Given the description of an element on the screen output the (x, y) to click on. 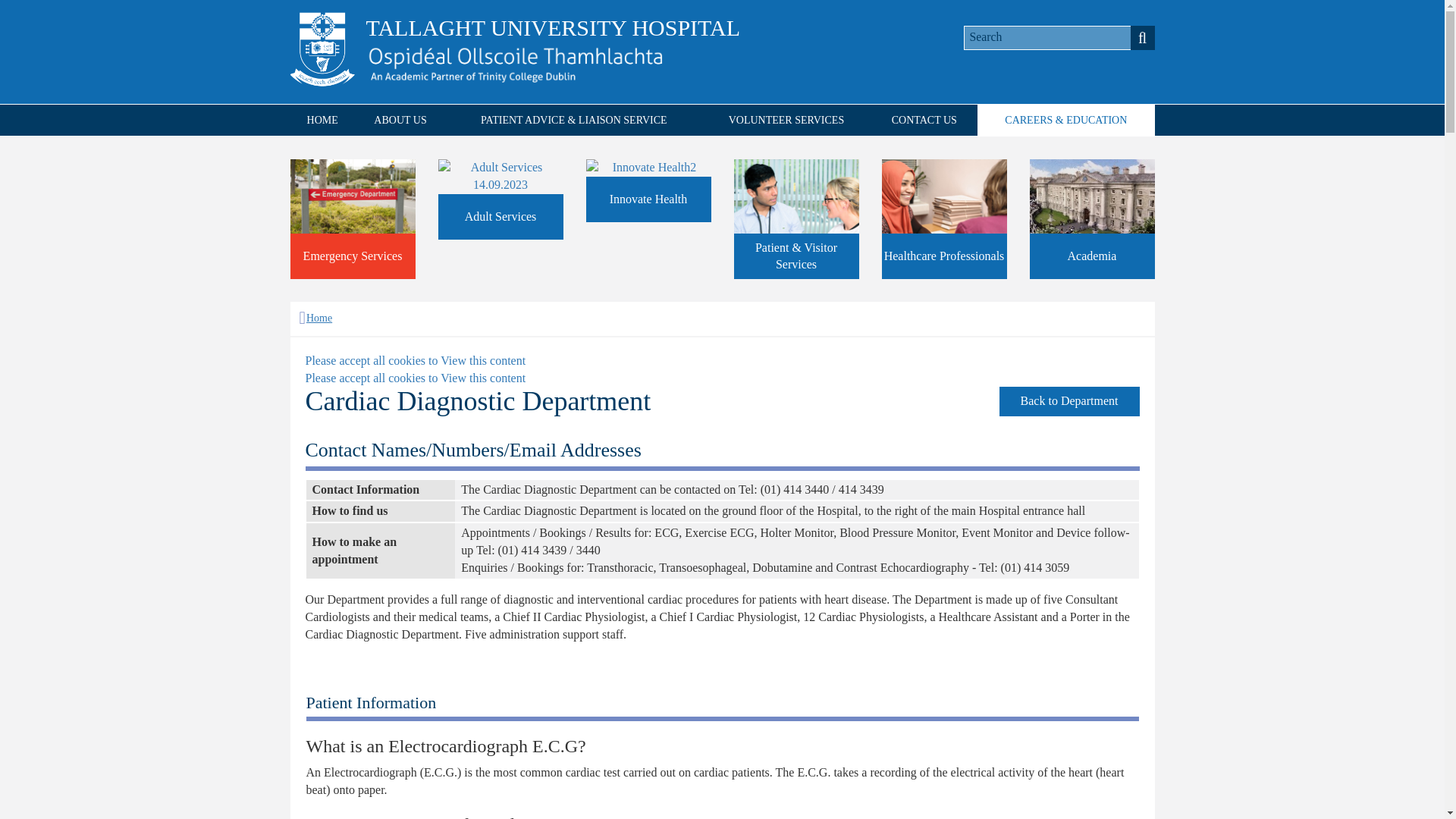
CONTACT US (923, 119)
Please accept all cookies to View this content (414, 377)
Innovate Health (647, 189)
Please accept all cookies to View this content (414, 359)
Academia (1091, 218)
ABOUT US (400, 119)
Home (314, 317)
Emergency Services (351, 218)
Back to Department (1069, 401)
Test logo (513, 63)
